Given the description of an element on the screen output the (x, y) to click on. 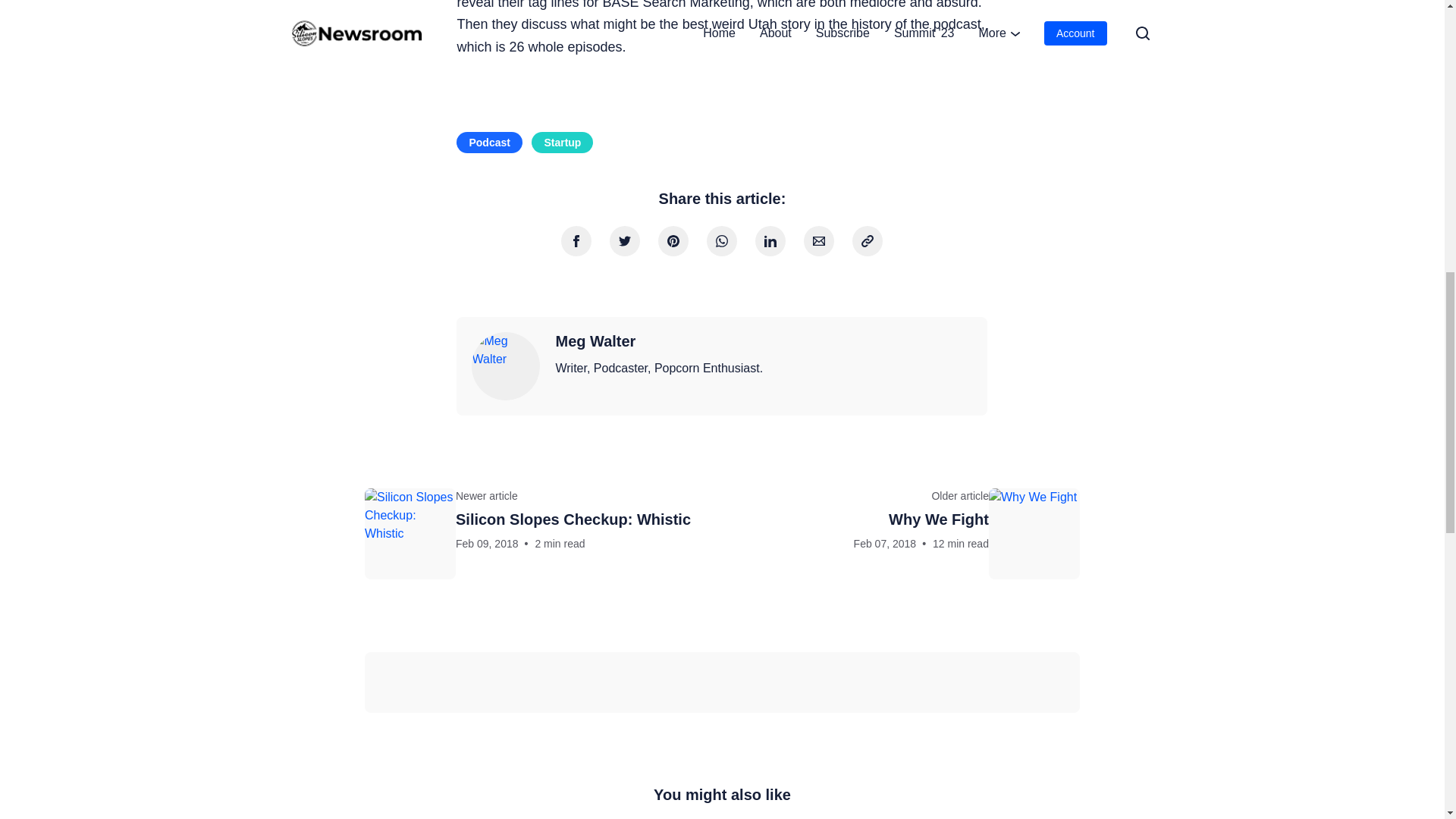
Share on Pinterest (673, 241)
Meg Walter (505, 366)
Share on Linkedin (905, 533)
Share on Twitter (770, 241)
Share on Whatsapp (625, 241)
Startup (721, 241)
Meg Walter (561, 142)
Podcast (594, 341)
